Given the description of an element on the screen output the (x, y) to click on. 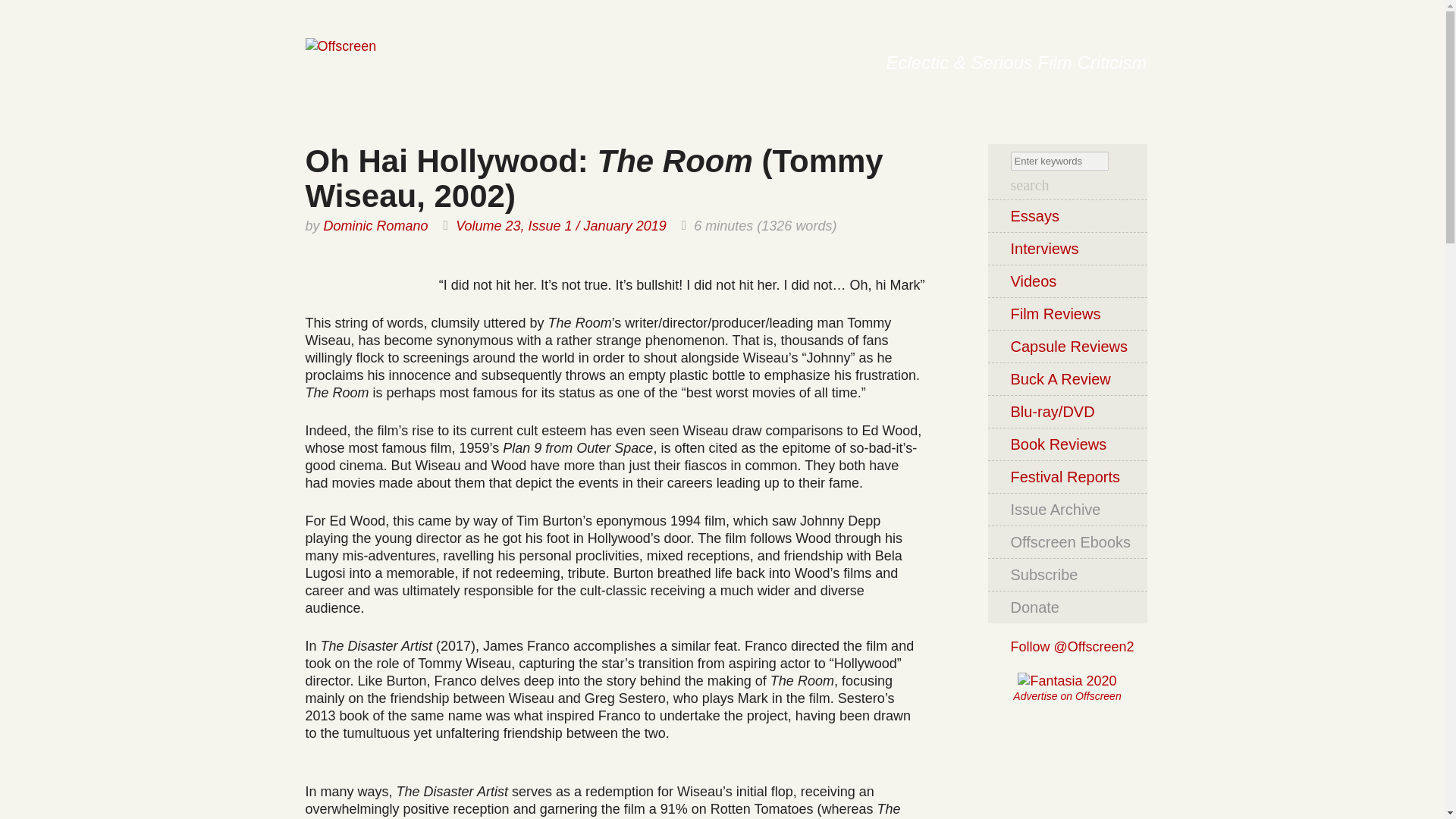
Interviews (1067, 247)
Issue Archive (1067, 509)
Videos (1067, 280)
Book Reviews (1067, 443)
Advertise on Offscreen (1067, 695)
Dominic Romano (375, 225)
Capsule Reviews (1067, 346)
Essays (1067, 215)
Festival Reports (1067, 476)
Buck A Review (1067, 378)
search (1029, 184)
Donate (1067, 606)
Film Reviews (1067, 313)
Subscribe (1067, 573)
Offscreen Ebooks (1067, 541)
